Given the description of an element on the screen output the (x, y) to click on. 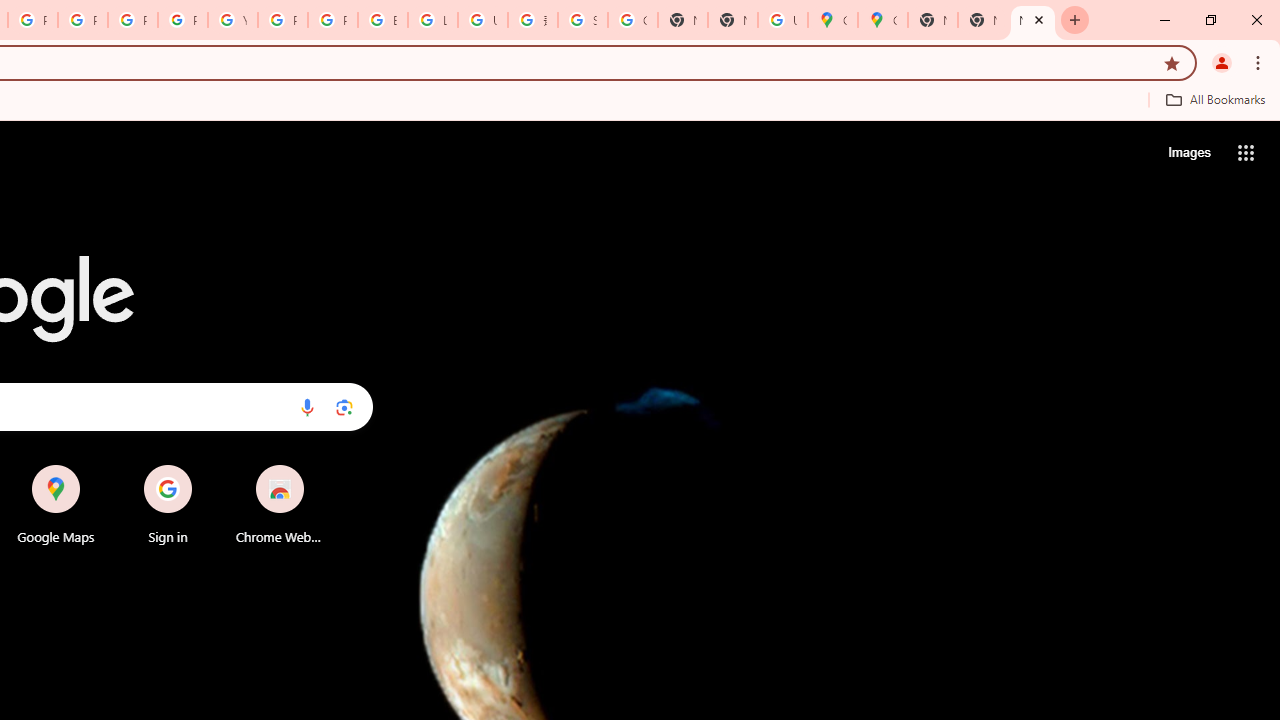
Sign in (168, 504)
Sign in - Google Accounts (582, 20)
Restore (1210, 20)
All Bookmarks (1215, 99)
Google Maps (832, 20)
Chrome (1260, 62)
Chrome Web Store (279, 504)
Use Google Maps in Space - Google Maps Help (782, 20)
Google apps (1245, 152)
New Tab (932, 20)
Privacy Help Center - Policies Help (132, 20)
YouTube (232, 20)
Privacy Help Center - Policies Help (82, 20)
